Given the description of an element on the screen output the (x, y) to click on. 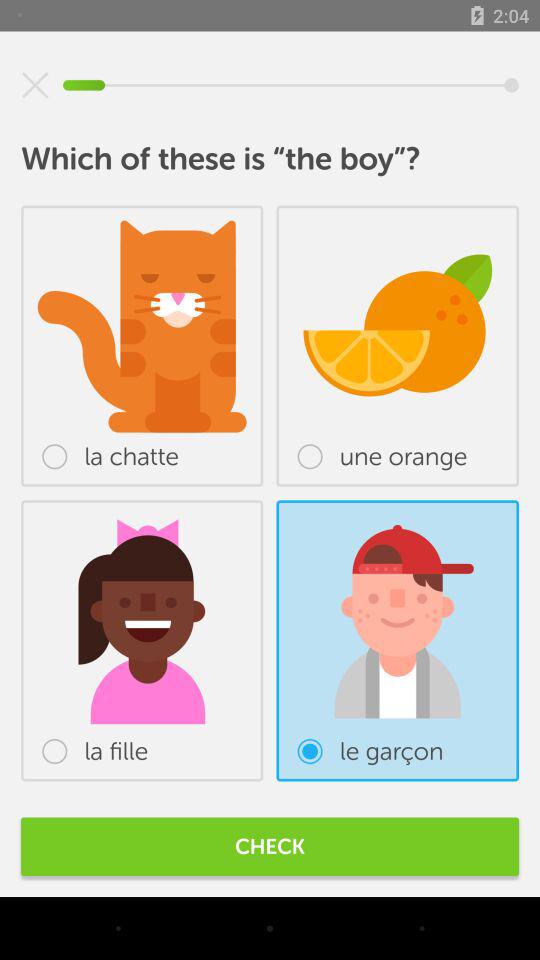
choose the item at the top left corner (35, 85)
